Given the description of an element on the screen output the (x, y) to click on. 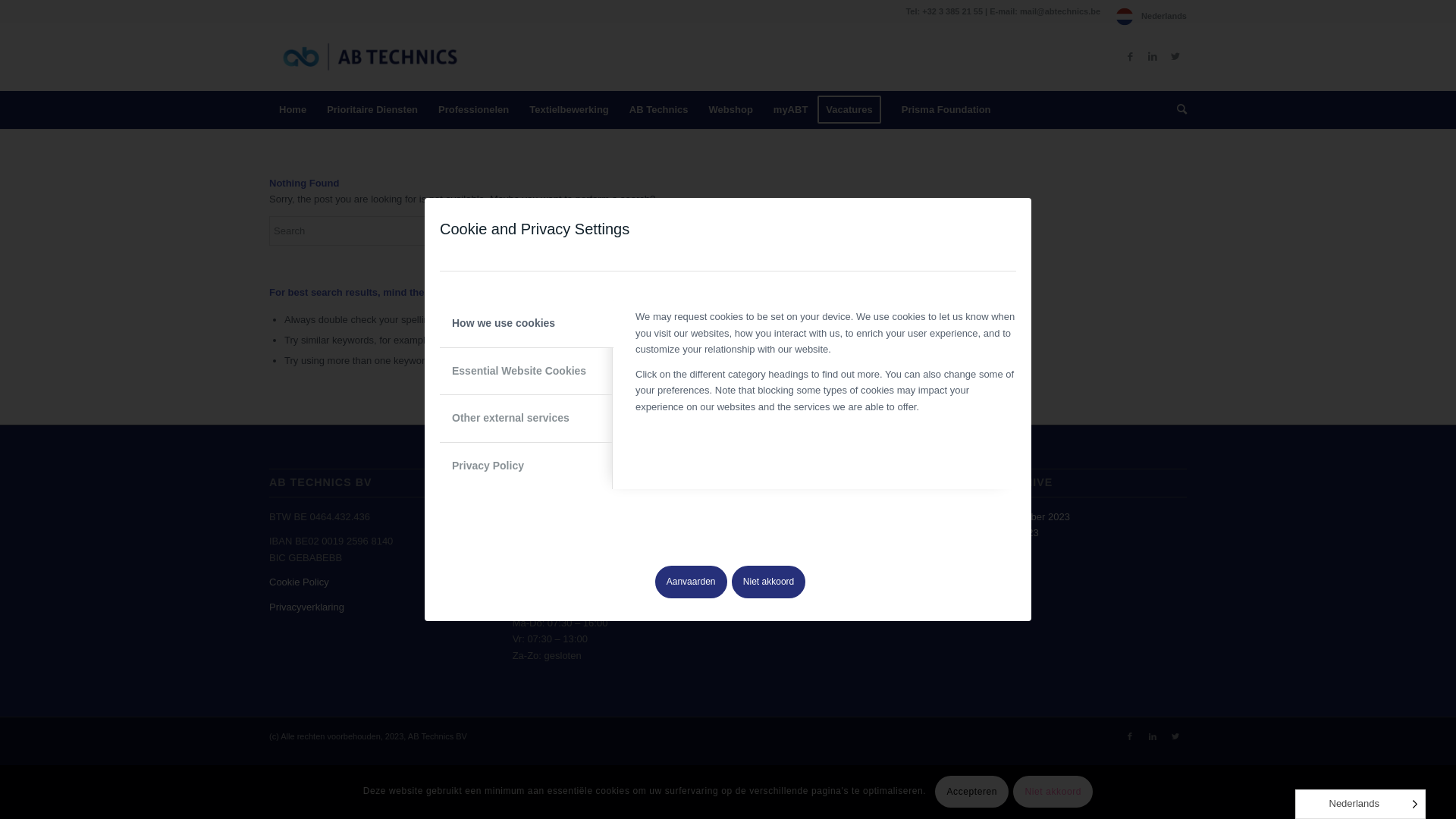
Twitter Element type: hover (1175, 735)
Nederlands Element type: text (1150, 15)
Prioritaire Diensten Element type: text (371, 109)
Niet akkoord Element type: text (1052, 791)
Privacyverklaring Element type: text (306, 606)
september 2023 Element type: text (1034, 516)
juni 2023 Element type: text (1018, 532)
Niet akkoord Element type: text (768, 581)
Home Element type: text (292, 109)
Professionelen Element type: text (472, 109)
Vacatures Element type: text (853, 109)
myABT Element type: text (790, 109)
Cookie Policy Element type: text (299, 581)
LinkedIn Element type: hover (1152, 735)
Aanvaarden Element type: text (691, 581)
Webshop Element type: text (730, 109)
Prisma Foundation Element type: text (946, 109)
AB Technics Element type: text (658, 109)
Textielbewerking Element type: text (568, 109)
Facebook Element type: hover (1129, 56)
Facebook Element type: hover (1129, 735)
LinkedIn Element type: hover (1152, 56)
Accepteren Element type: text (971, 791)
Twitter Element type: hover (1175, 56)
